Given the description of an element on the screen output the (x, y) to click on. 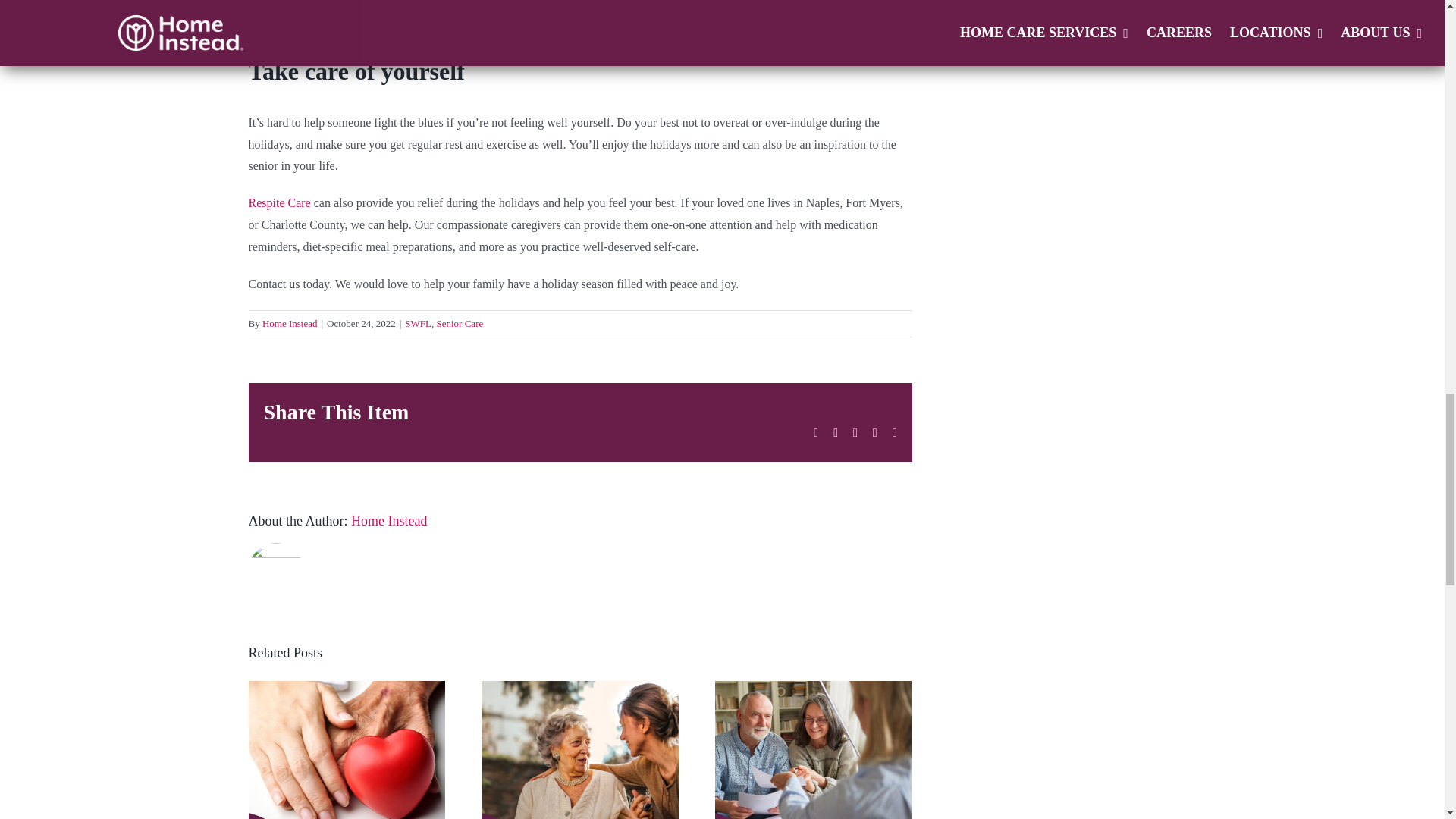
SWFL (417, 323)
Posts by Home Instead (289, 323)
Respite Care (279, 202)
Home Instead (289, 323)
Posts by Home Instead (388, 520)
